Given the description of an element on the screen output the (x, y) to click on. 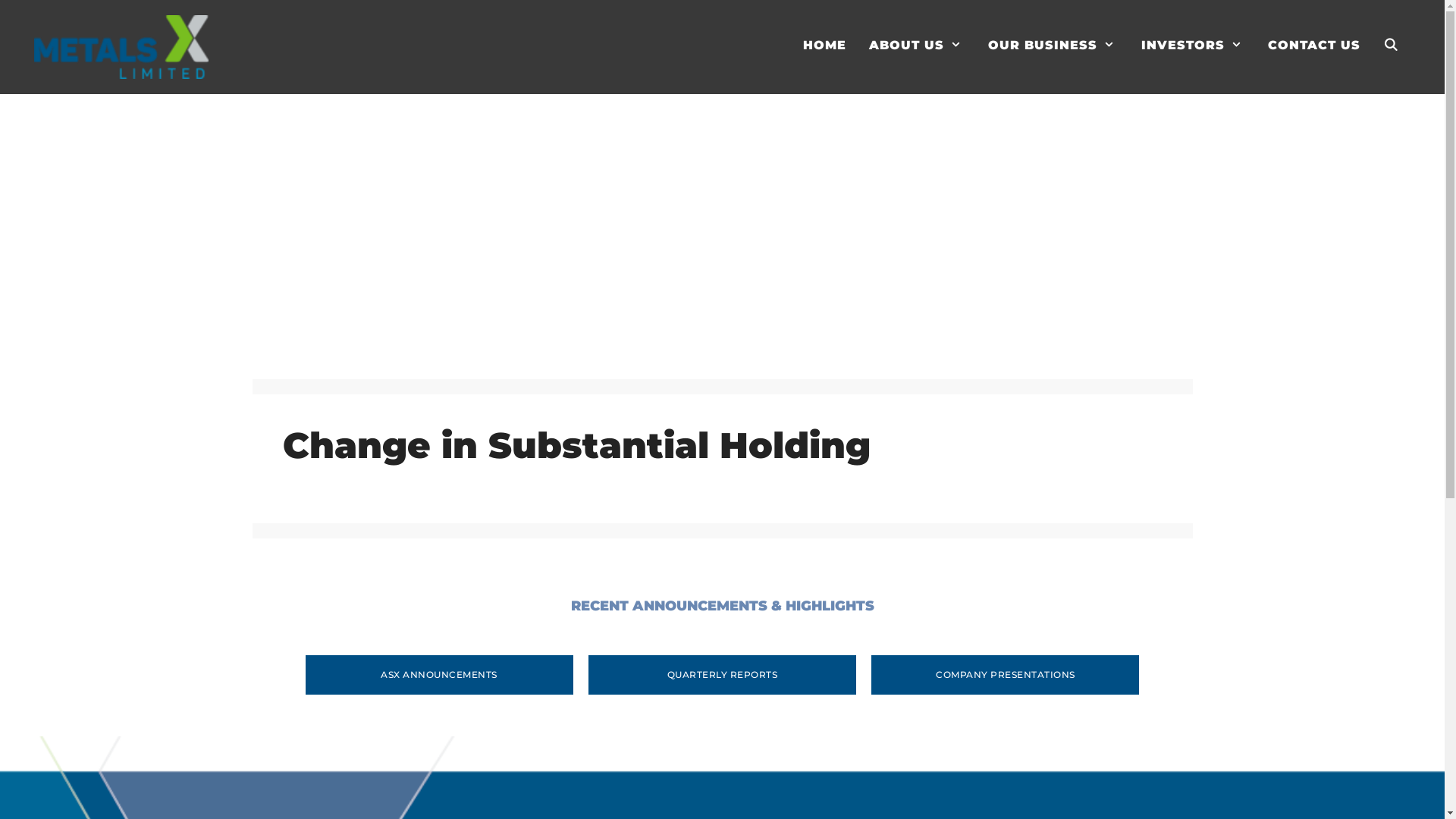
Metals X Limited Element type: hover (121, 46)
ABOUT US Element type: text (916, 45)
INVESTORS Element type: text (1193, 45)
QUARTERLY REPORTS Element type: text (722, 674)
COMPANY PRESENTATIONS Element type: text (1005, 674)
ASX ANNOUNCEMENTS Element type: text (438, 674)
OUR BUSINESS Element type: text (1052, 45)
HOME Element type: text (824, 45)
CONTACT US Element type: text (1313, 45)
Metals X Limited Element type: hover (121, 45)
